Given the description of an element on the screen output the (x, y) to click on. 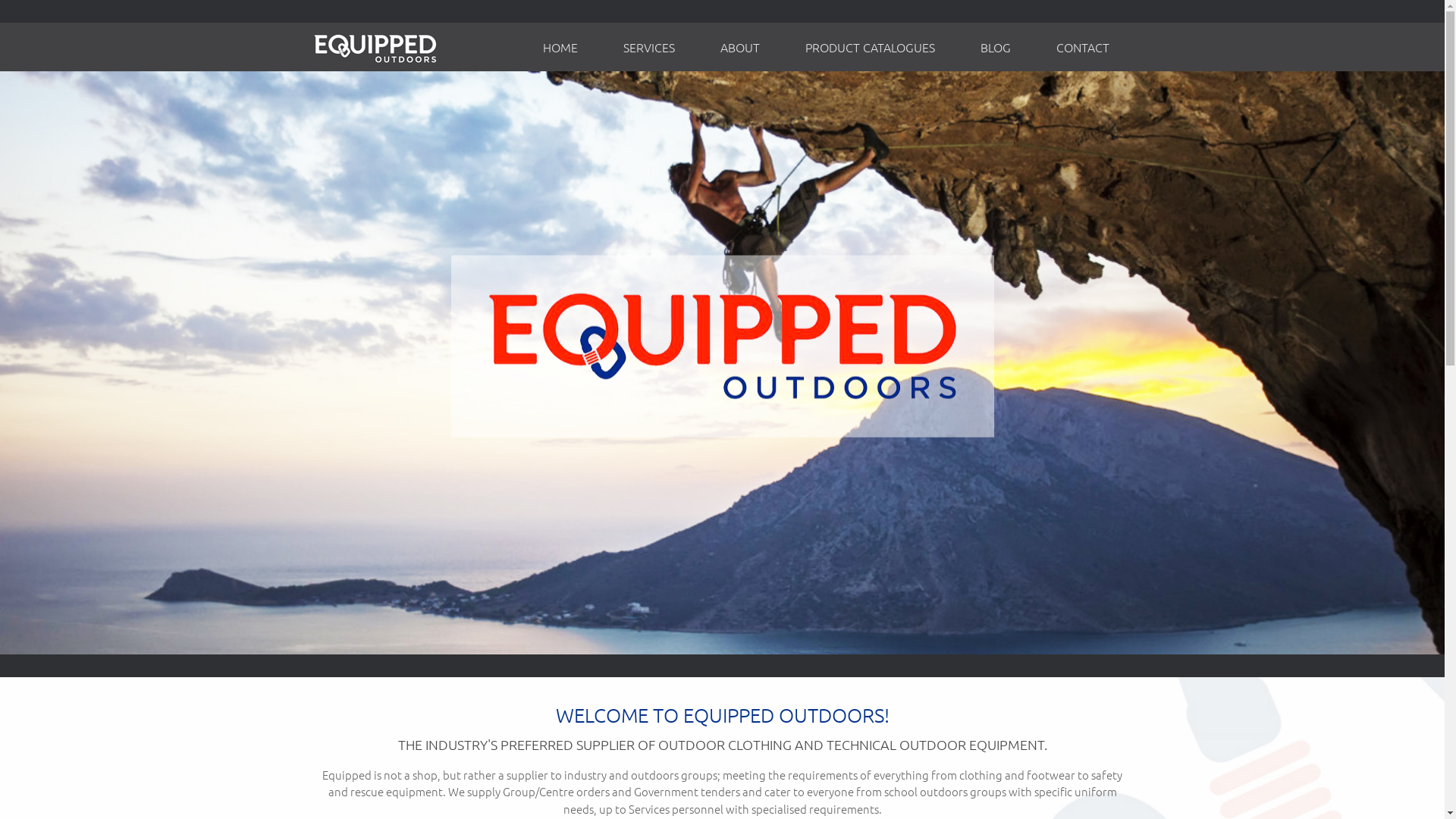
Equipped Outdoors Element type: hover (374, 46)
SERVICES Element type: text (648, 46)
BLOG Element type: text (994, 46)
CONTACT Element type: text (1081, 46)
ABOUT Element type: text (739, 46)
PRODUCT CATALOGUES Element type: text (869, 46)
HOME Element type: text (560, 46)
